Given the description of an element on the screen output the (x, y) to click on. 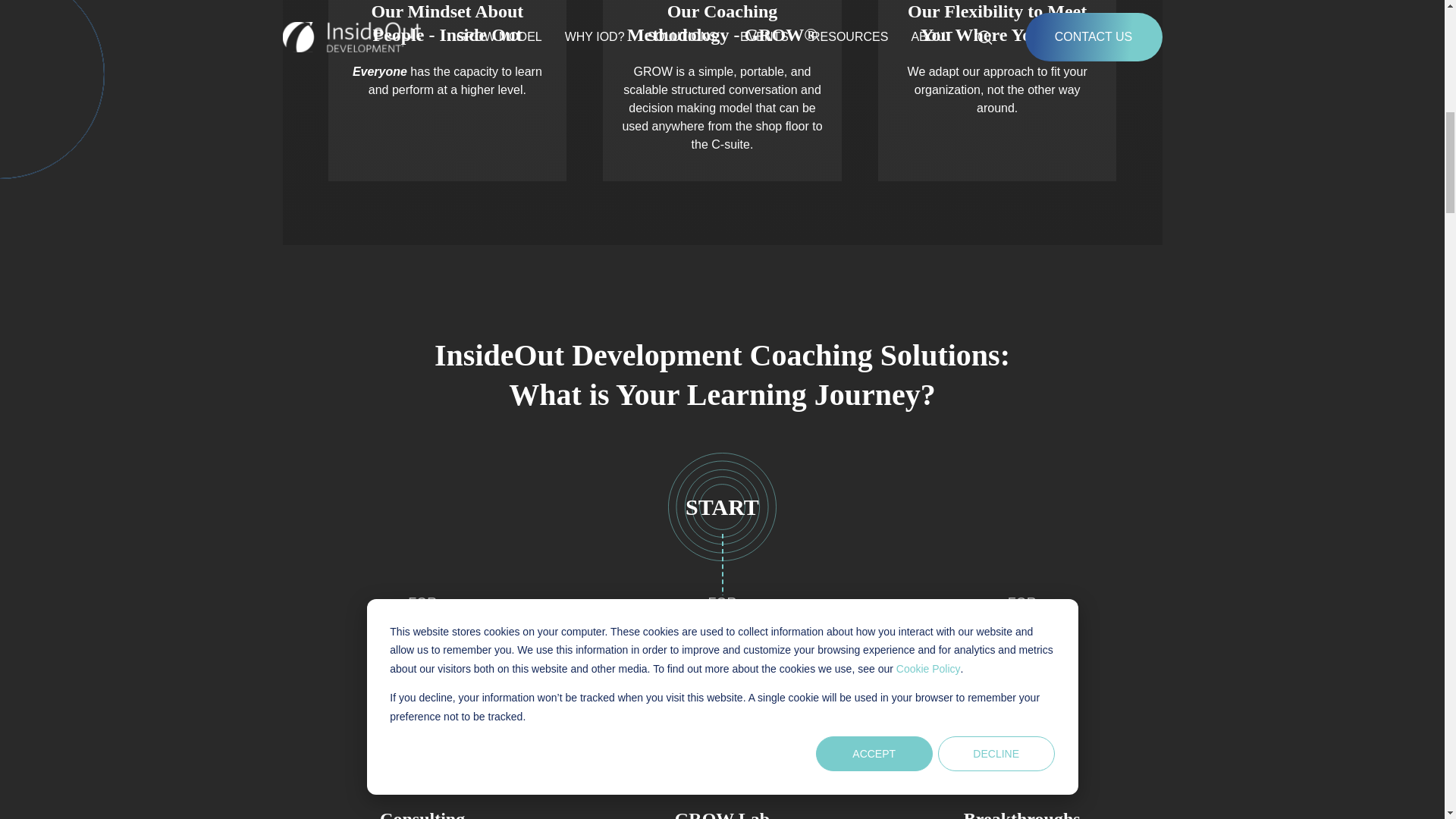
Consulting (721, 715)
Breakthroughs (422, 813)
GROW Lab (1021, 813)
